Given the description of an element on the screen output the (x, y) to click on. 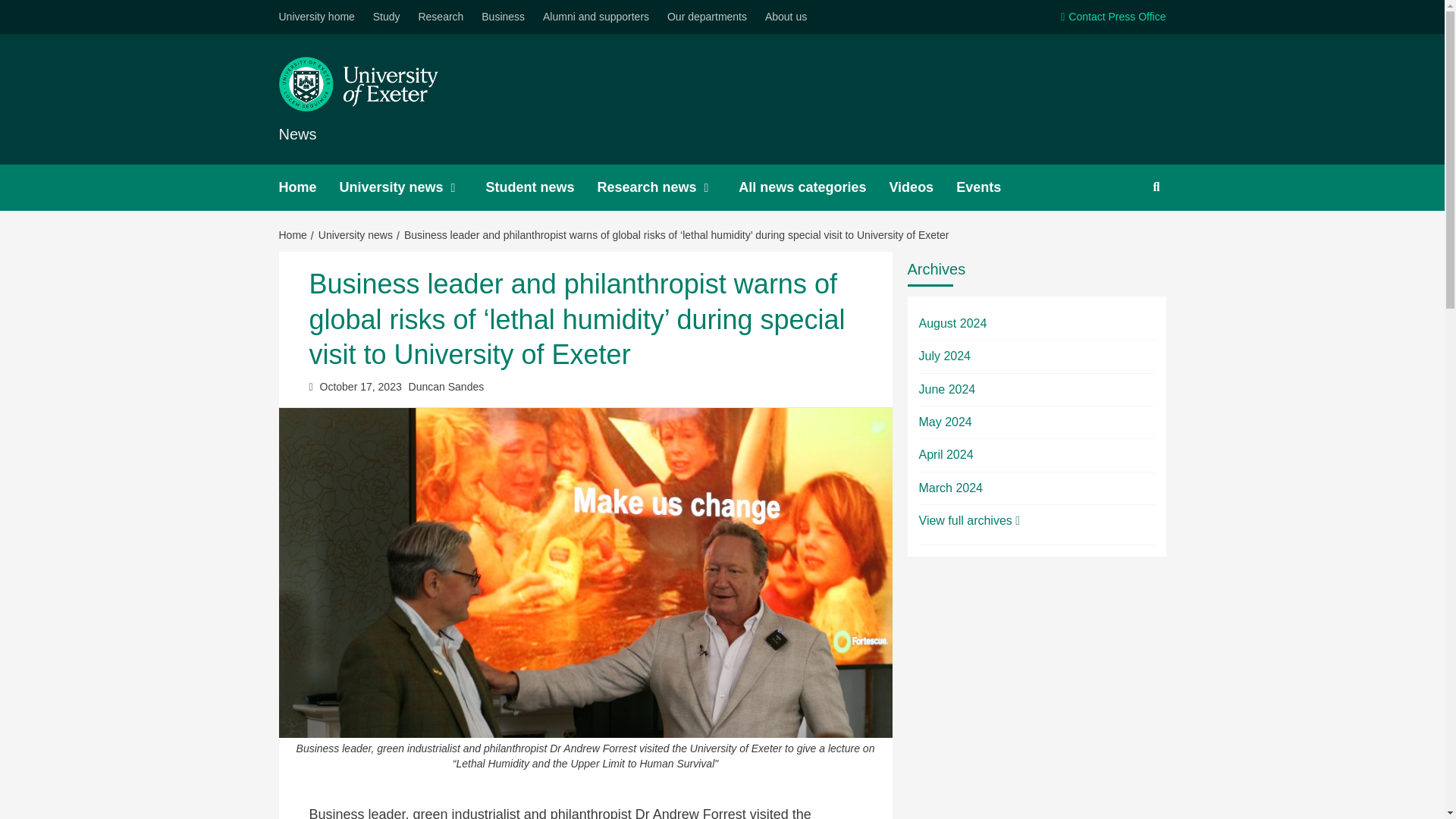
Home (295, 234)
Our departments (706, 17)
About us (785, 17)
Videos (922, 187)
Student news (540, 187)
Home (309, 187)
Events (989, 187)
Alumni and supporters (595, 17)
Study (386, 17)
All news categories (813, 187)
